Given the description of an element on the screen output the (x, y) to click on. 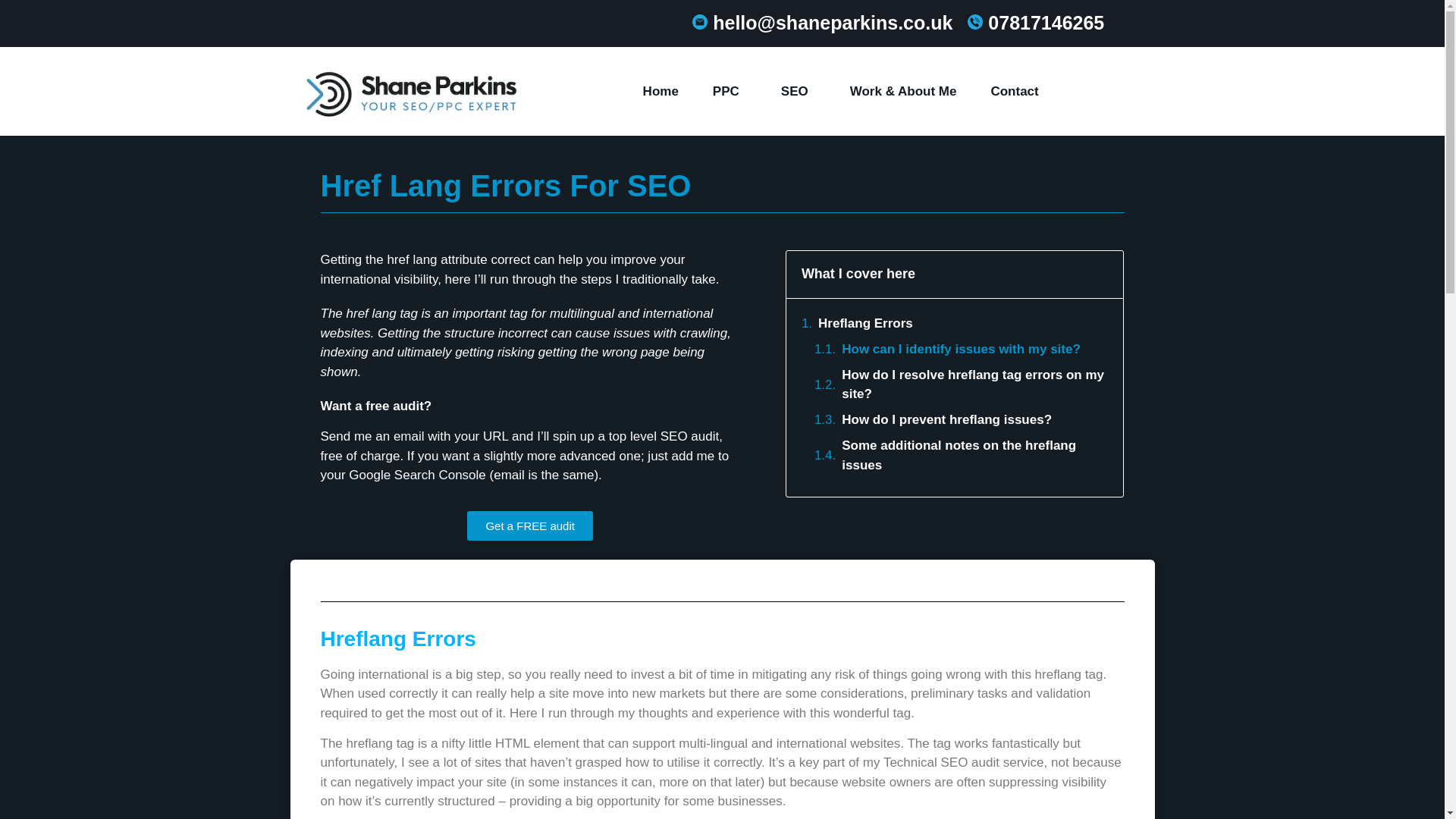
Contact (1013, 91)
Get a FREE audit (529, 525)
SEO (798, 91)
07817146265 (1042, 22)
Home (660, 91)
PPC (729, 91)
Hreflang Errors (865, 323)
Shane Parkins Logo (412, 91)
